Given the description of an element on the screen output the (x, y) to click on. 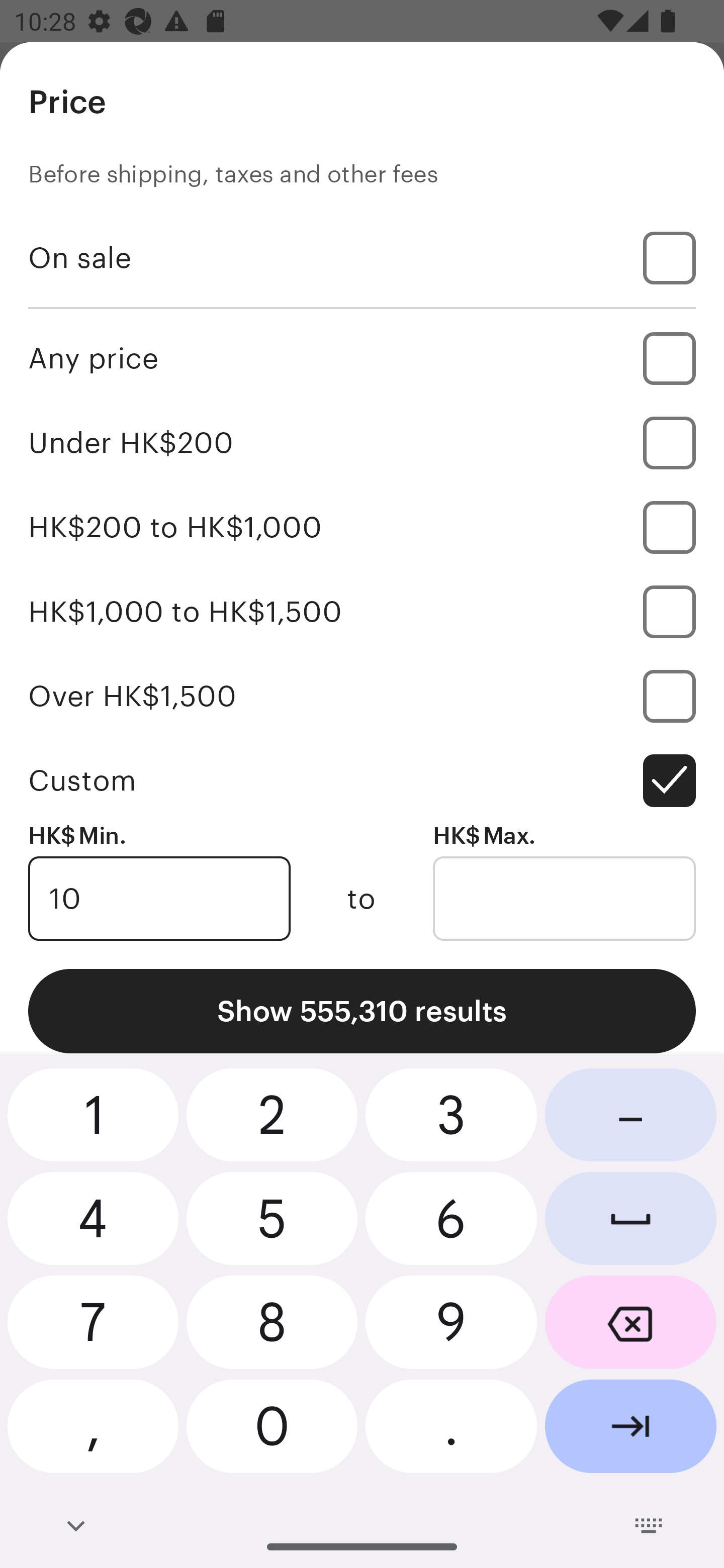
On sale (362, 257)
Any price (362, 357)
Under HK$200 (362, 441)
HK$200 to HK$1,000 (362, 526)
HK$1,000 to HK$1,500 (362, 611)
Over HK$1,500 (362, 695)
Custom (362, 780)
10 (159, 898)
Show 555,310 results (361, 1011)
